Given the description of an element on the screen output the (x, y) to click on. 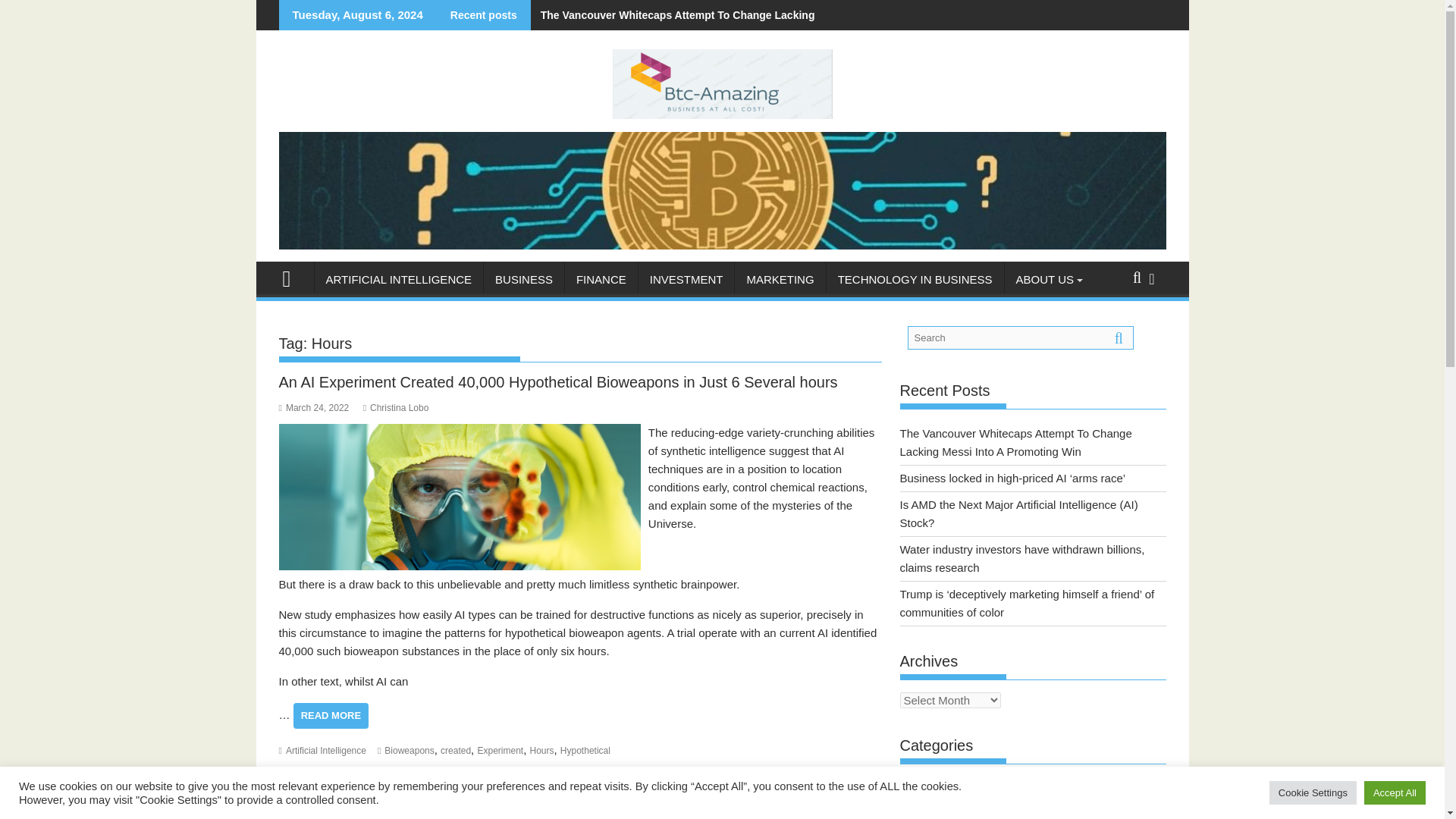
ABOUT US (1044, 279)
Btc-Amazing (293, 276)
TECHNOLOGY IN BUSINESS (915, 279)
BUSINESS (523, 279)
March 24, 2022 (314, 407)
FINANCE (600, 279)
INVESTMENT (687, 279)
Christina Lobo (395, 407)
ARTIFICIAL INTELLIGENCE (398, 279)
MARKETING (780, 279)
